Given the description of an element on the screen output the (x, y) to click on. 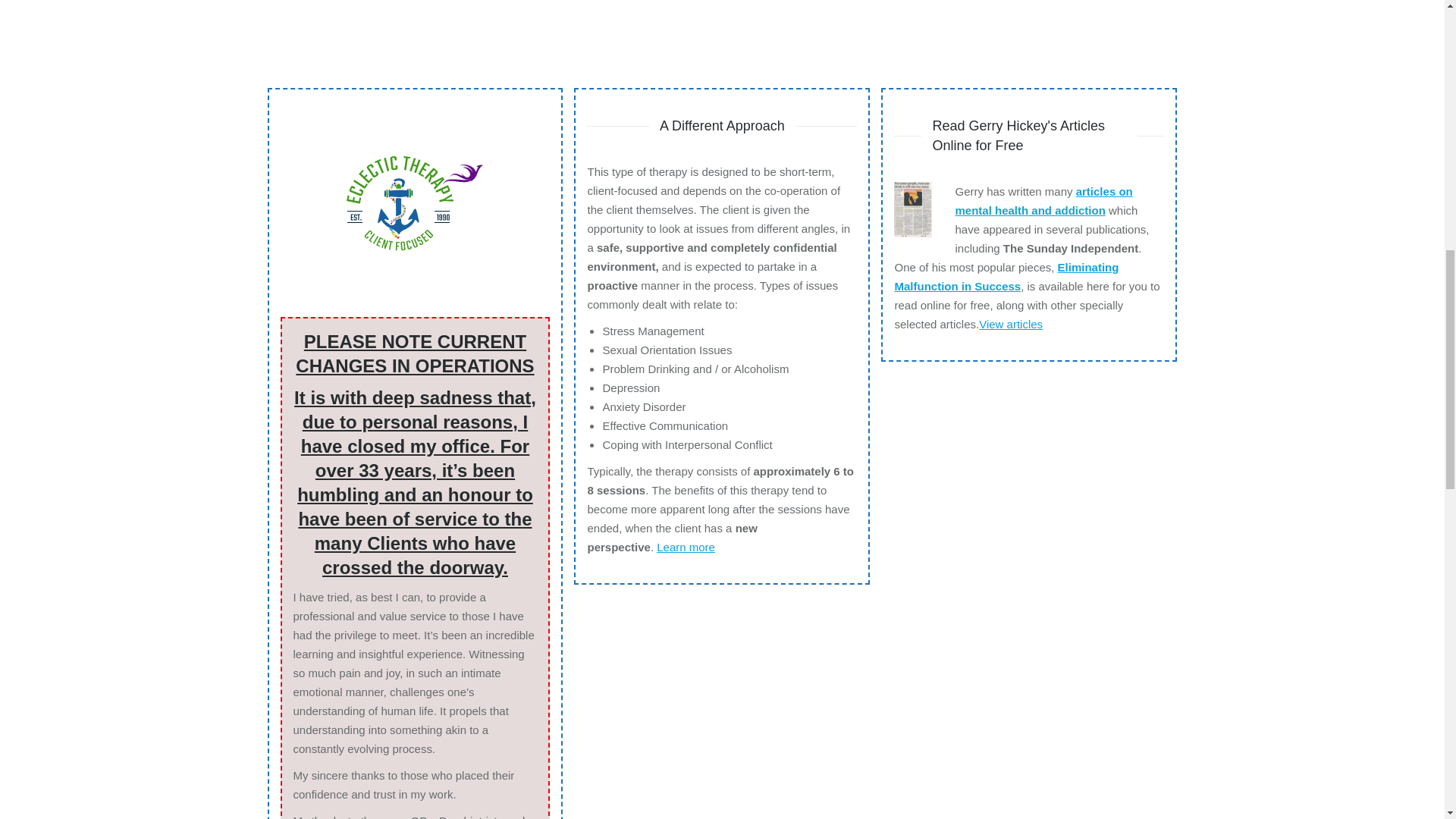
Eliminating Malfunction in Success (1005, 276)
View articles (1010, 323)
Learn more (685, 545)
articles on mental health and addiction (1043, 201)
